Given the description of an element on the screen output the (x, y) to click on. 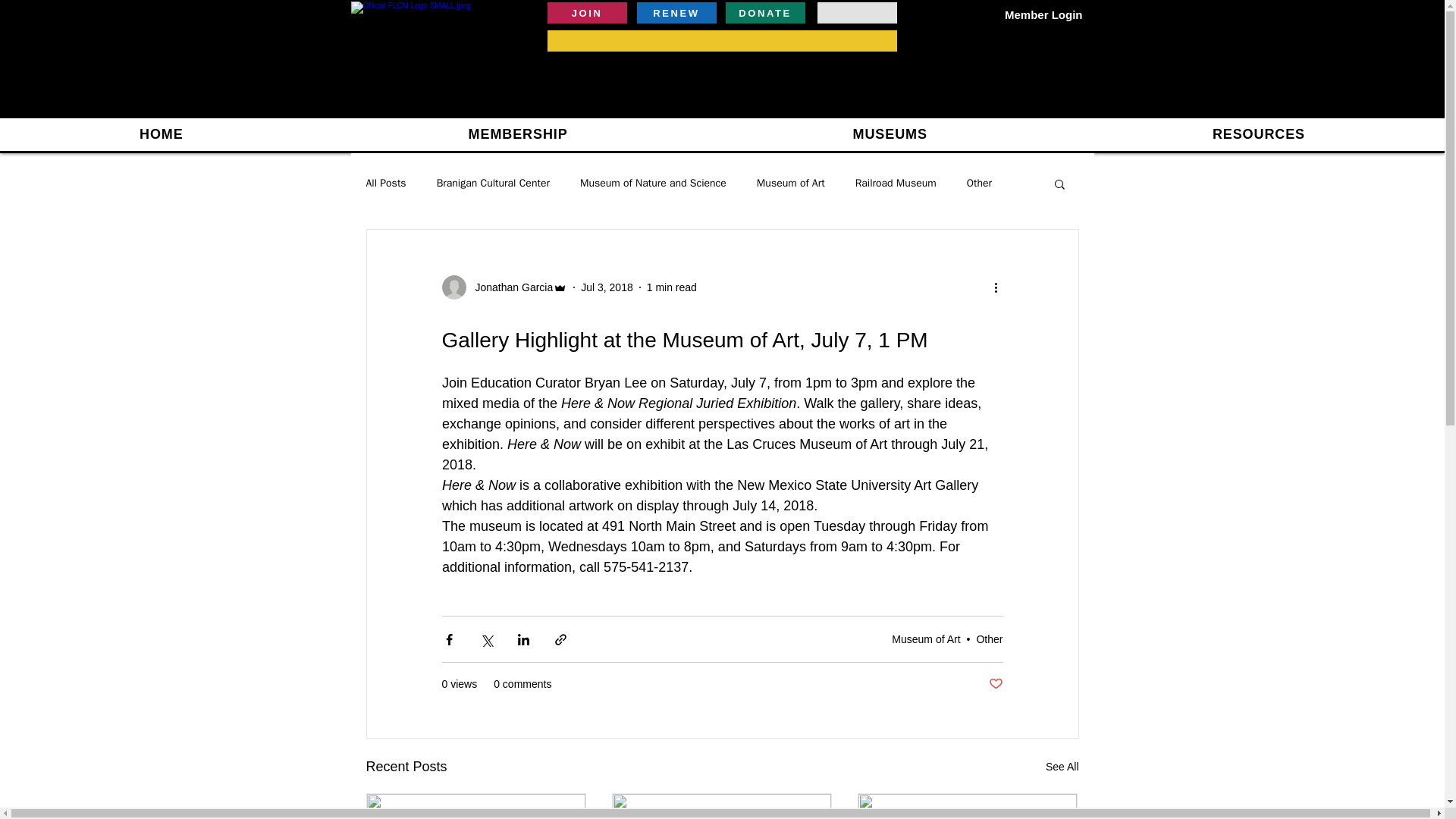
1 min read (671, 286)
See All (1061, 766)
RENEW (676, 12)
Jonathan Garcia (509, 286)
Museum of Nature and Science (652, 183)
Post not marked as liked (995, 684)
All Posts (385, 183)
Railroad Museum (896, 183)
Other (978, 183)
DONATE (765, 12)
